Given the description of an element on the screen output the (x, y) to click on. 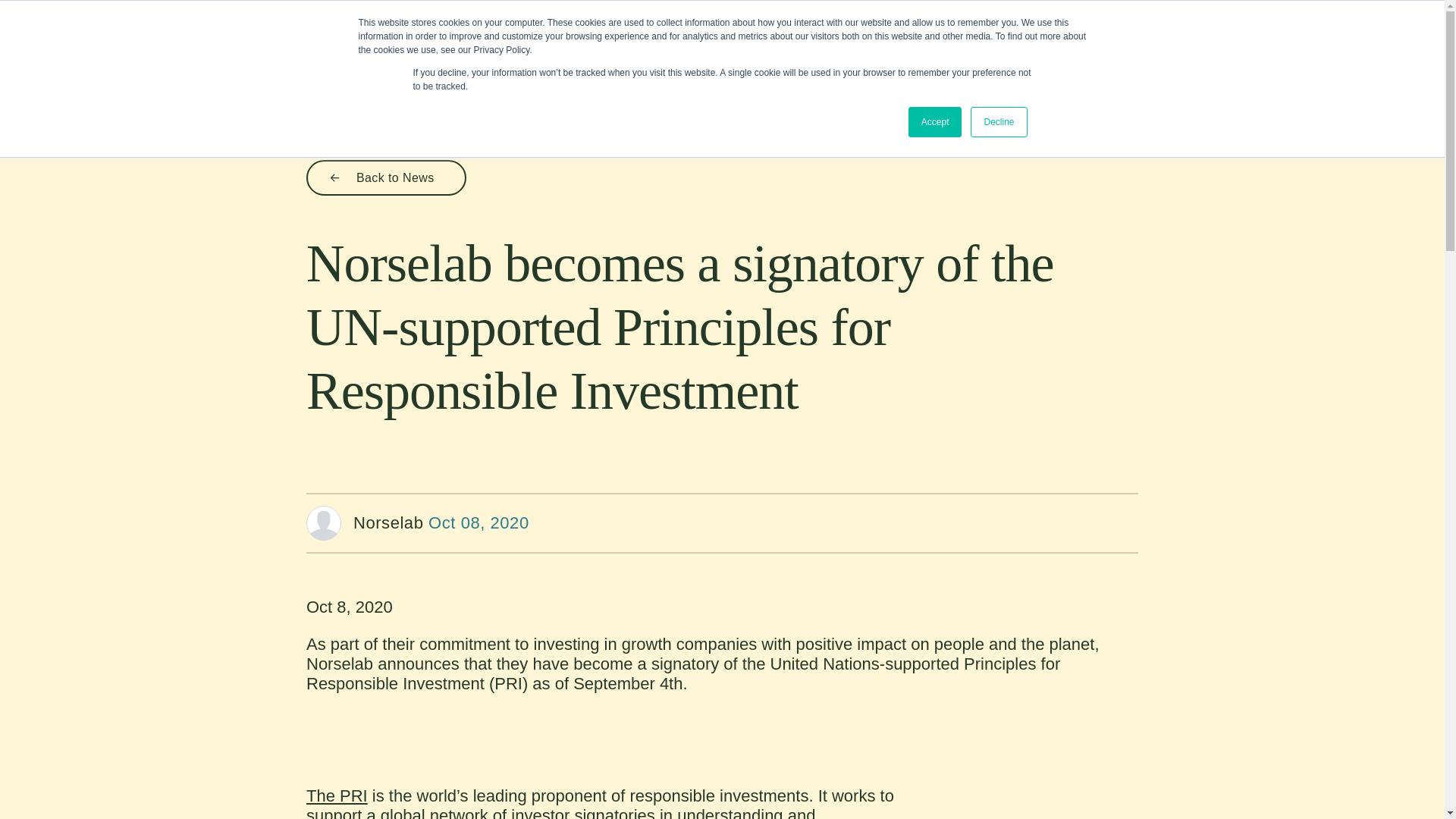
Accept (935, 122)
Back to News (385, 177)
The PRI (336, 795)
Decline (998, 122)
